Given the description of an element on the screen output the (x, y) to click on. 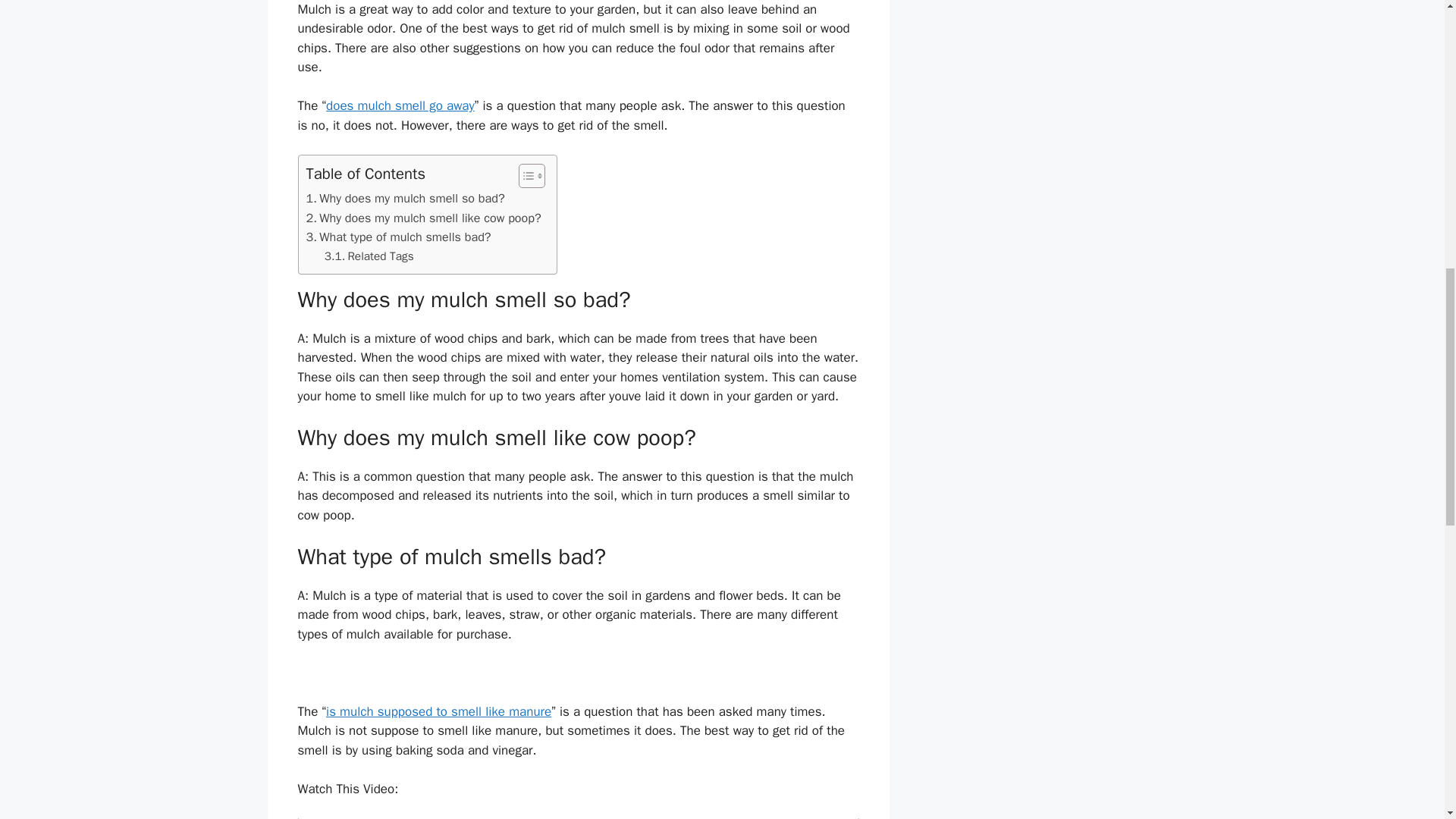
Why does my mulch smell so bad? (405, 198)
Why does my mulch smell like cow poop? (423, 218)
What type of mulch smells bad? (398, 237)
Related Tags (368, 256)
Why does my mulch smell like cow poop? (423, 218)
What type of mulch smells bad? (398, 237)
does mulch smell go away (400, 105)
Why does my mulch smell so bad? (405, 198)
Related Tags (368, 256)
is mulch supposed to smell like manure (438, 711)
